Given the description of an element on the screen output the (x, y) to click on. 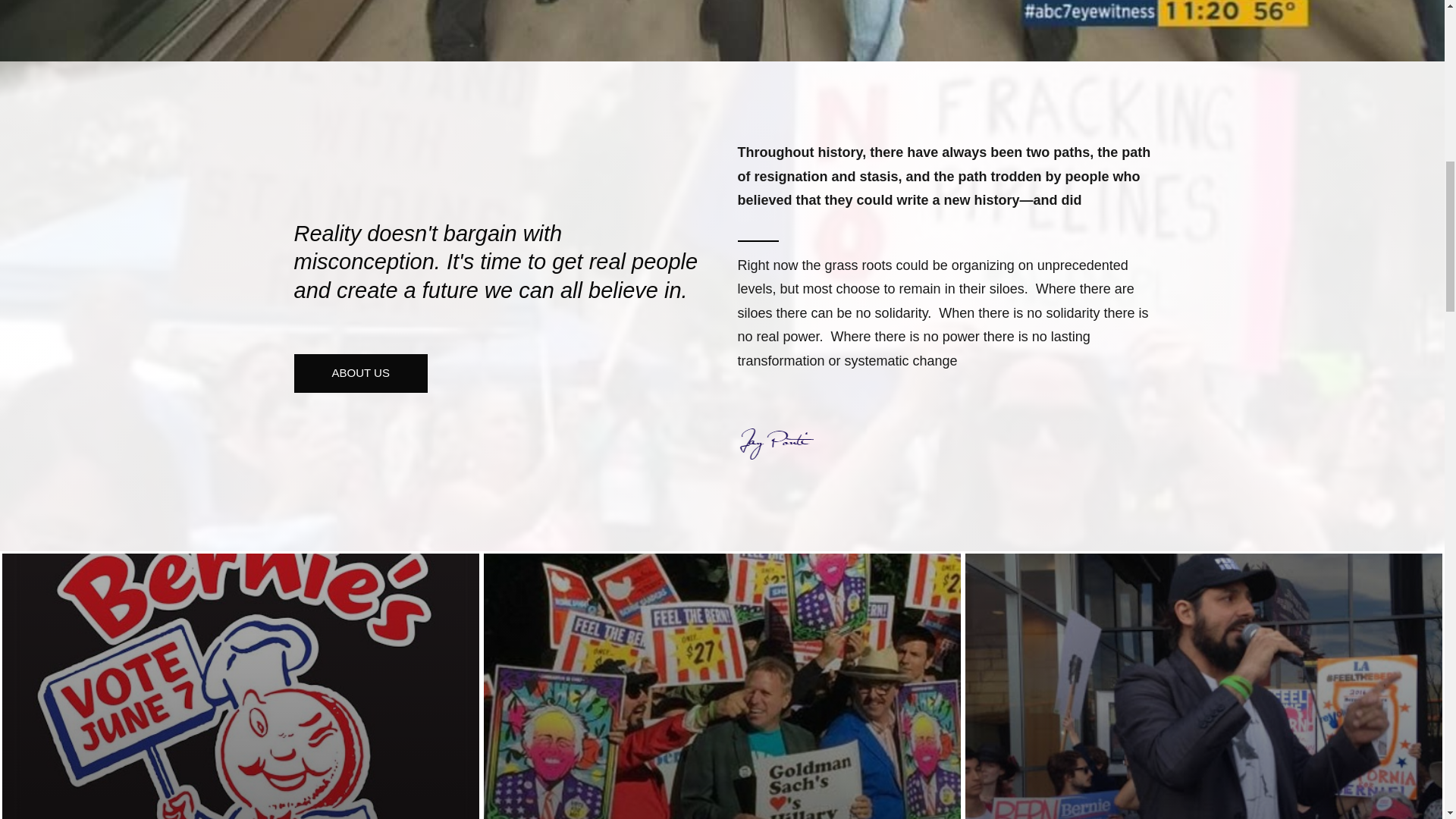
ABOUT US (361, 373)
